Given the description of an element on the screen output the (x, y) to click on. 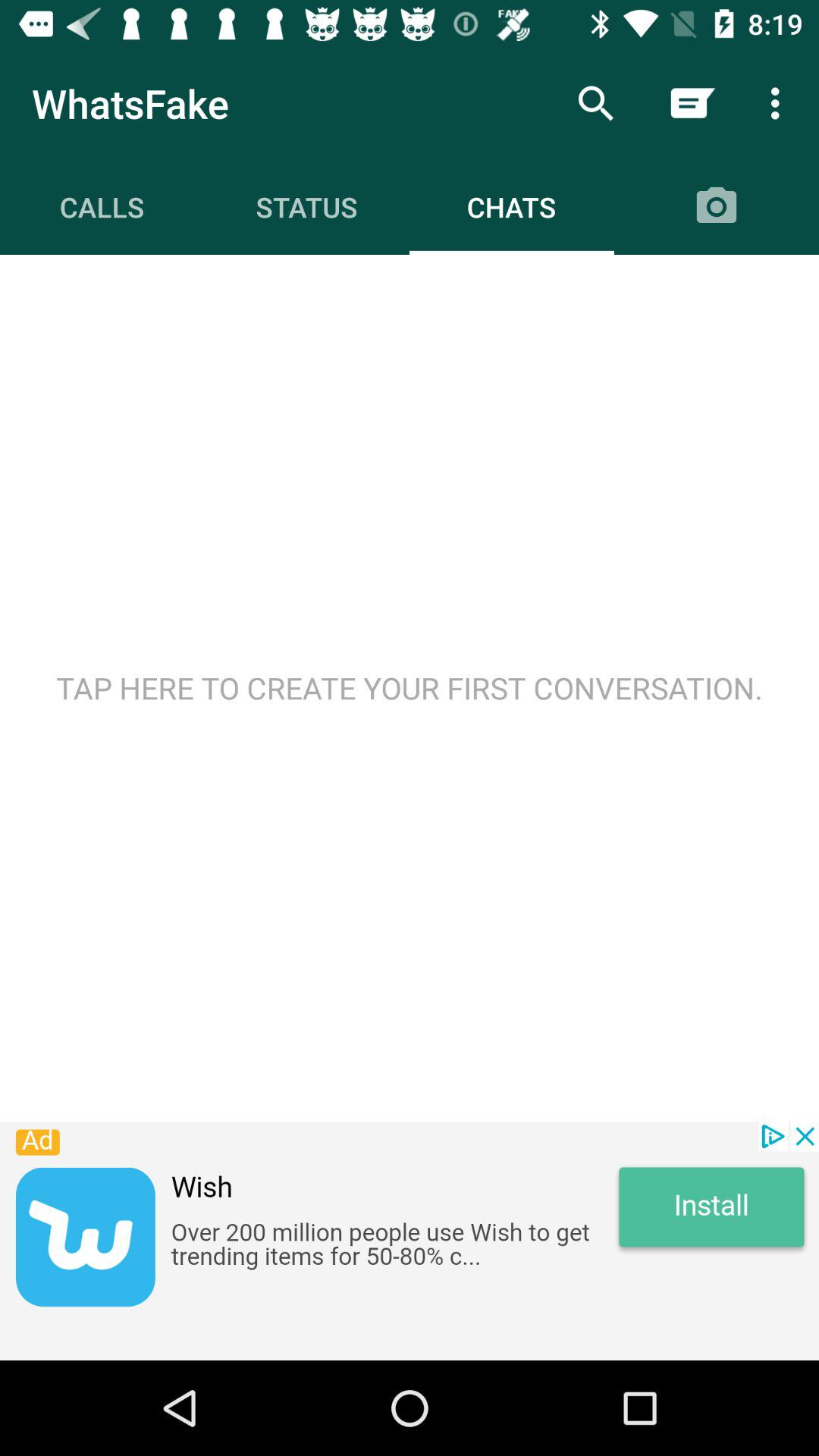
show avertisement (409, 1240)
